Given the description of an element on the screen output the (x, y) to click on. 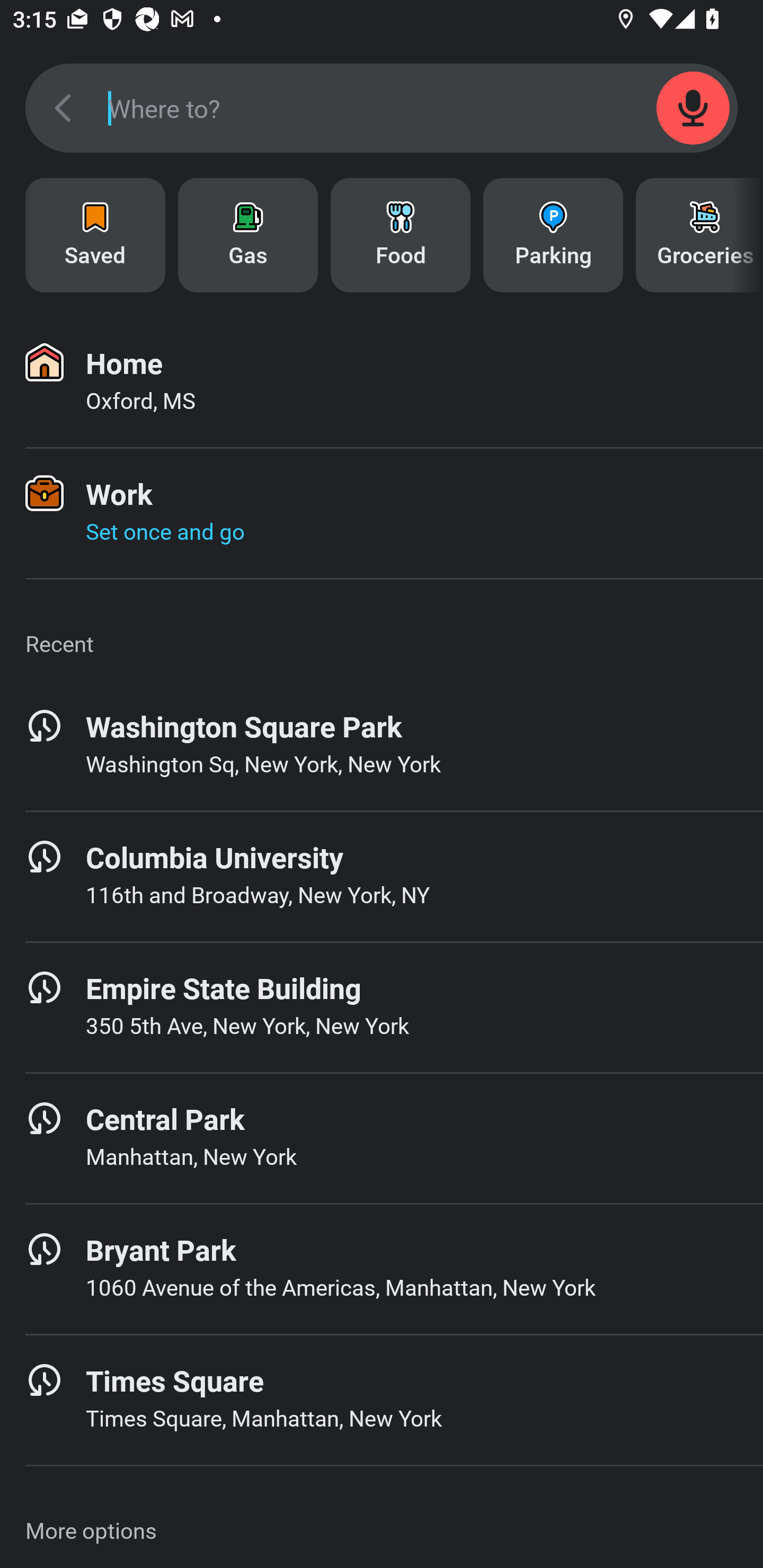
SEARCH_SCREEN_SEARCH_FIELD Where to? (381, 108)
Saved (95, 234)
Gas (247, 234)
Food (400, 234)
Parking (552, 234)
Groceries (699, 234)
Home Oxford, MS (381, 382)
Work Set once and go (381, 513)
Central Park Manhattan, New York (381, 1138)
Times Square Times Square, Manhattan, New York (381, 1399)
